Given the description of an element on the screen output the (x, y) to click on. 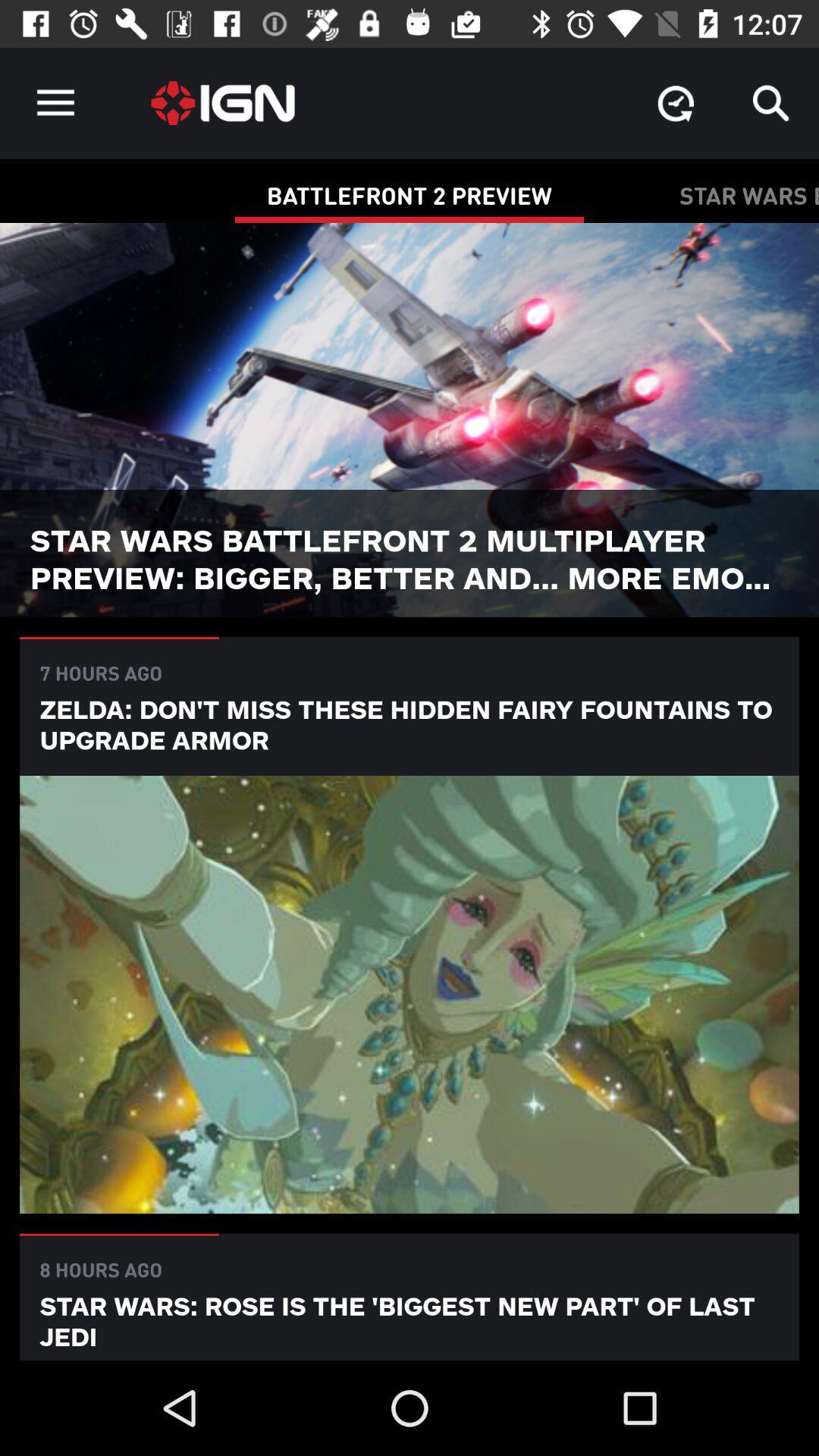
open app above the star wars battlefront ... item (771, 103)
